Given the description of an element on the screen output the (x, y) to click on. 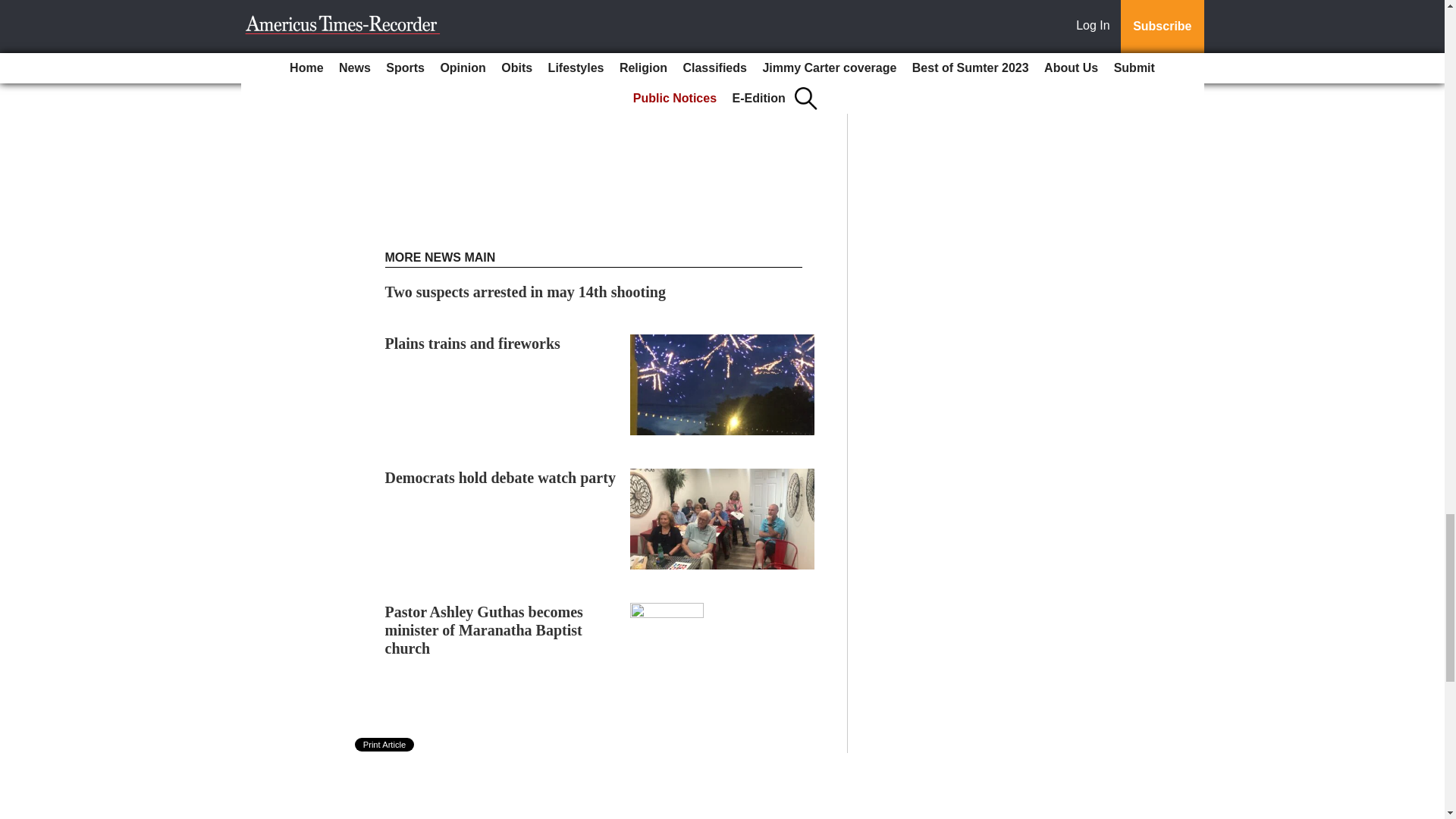
Democrats hold debate watch party (500, 477)
Plains trains and fireworks (472, 343)
Plains trains and fireworks (472, 343)
Two suspects arrested in may 14th shooting (525, 291)
Two suspects arrested in may 14th shooting (525, 291)
Democrats hold debate watch party (500, 477)
Print Article (384, 744)
